Given the description of an element on the screen output the (x, y) to click on. 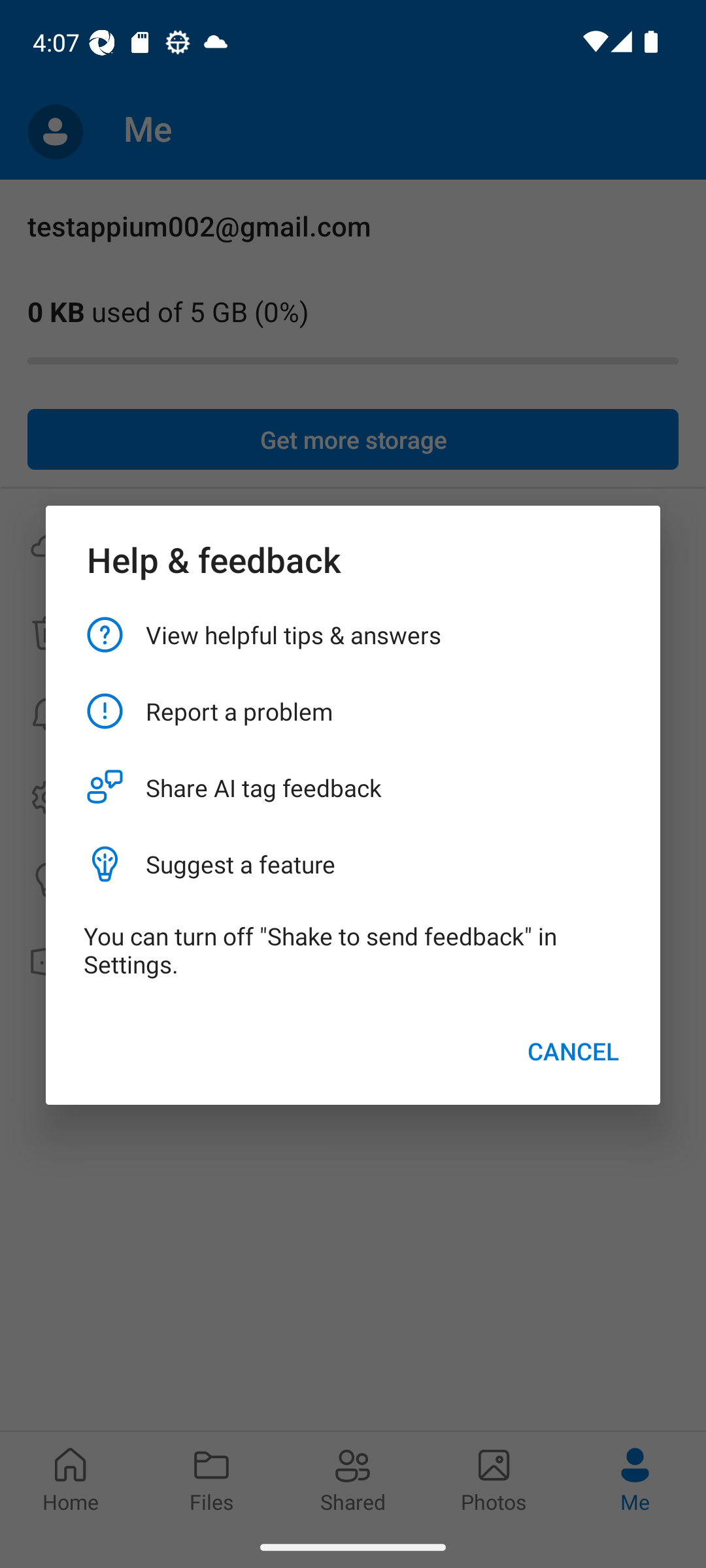
View helpful tips & answers (352, 633)
Report a problem (352, 710)
Share AI tag feedback (352, 787)
Suggest a feature (352, 863)
CANCEL (573, 1051)
